Given the description of an element on the screen output the (x, y) to click on. 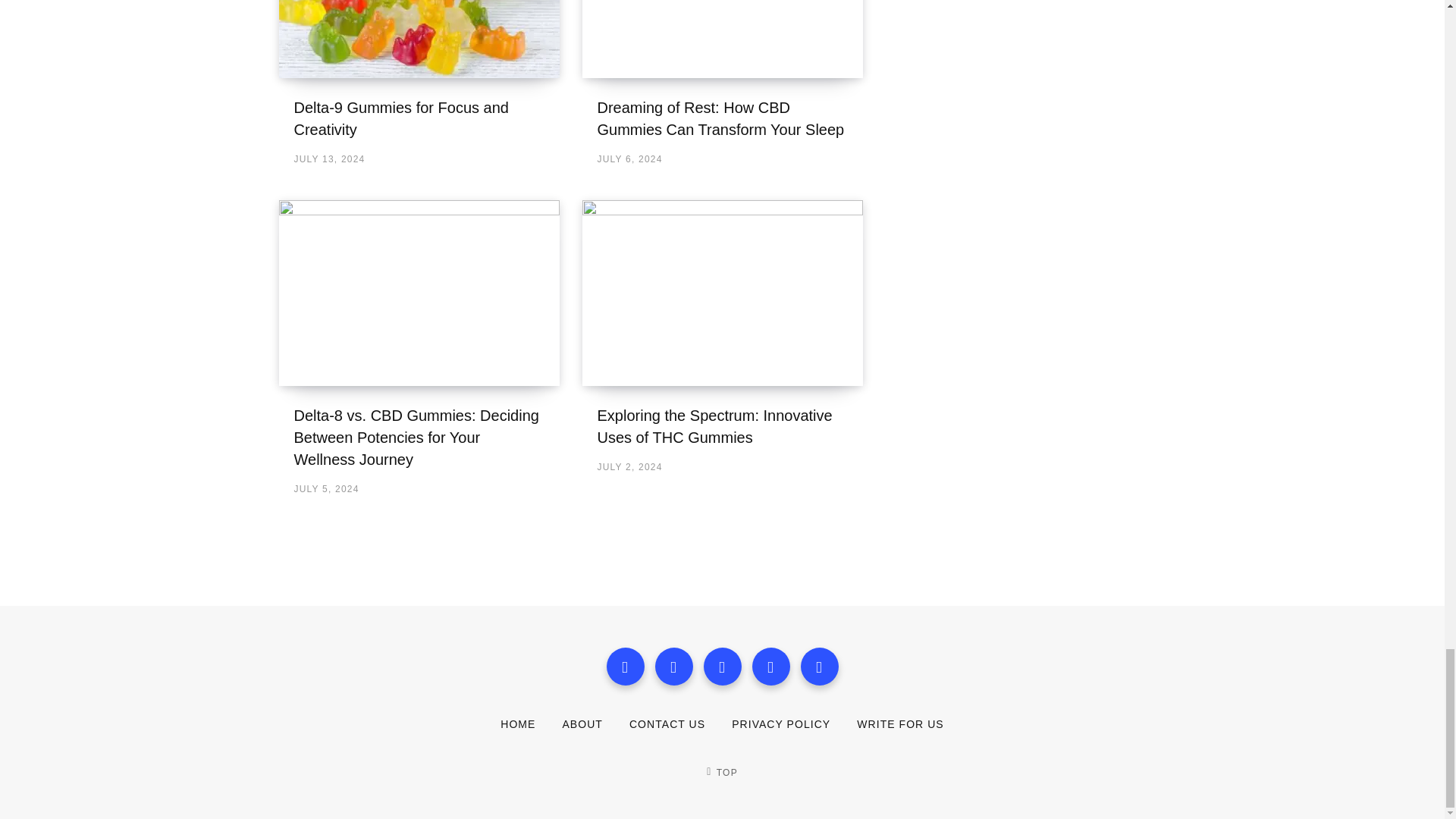
Dreaming of Rest: How CBD Gummies Can Transform Your Sleep (720, 118)
Delta-9 Gummies for Focus and Creativity (401, 118)
Delta-9 Gummies for Focus and Creativity (419, 38)
Exploring the Spectrum: Innovative Uses of THC Gummies (714, 426)
